Given the description of an element on the screen output the (x, y) to click on. 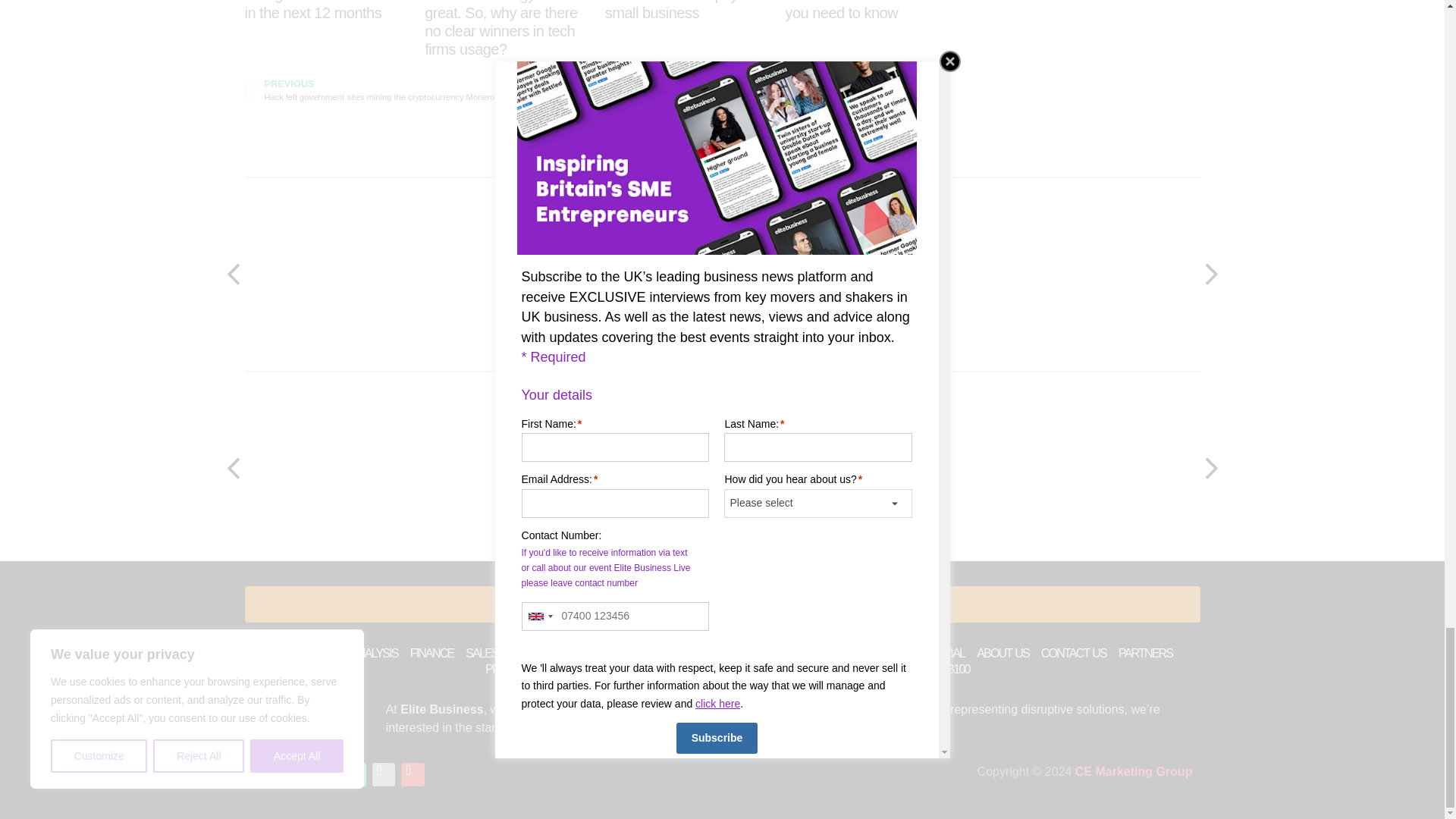
CEMG (1133, 771)
